Given the description of an element on the screen output the (x, y) to click on. 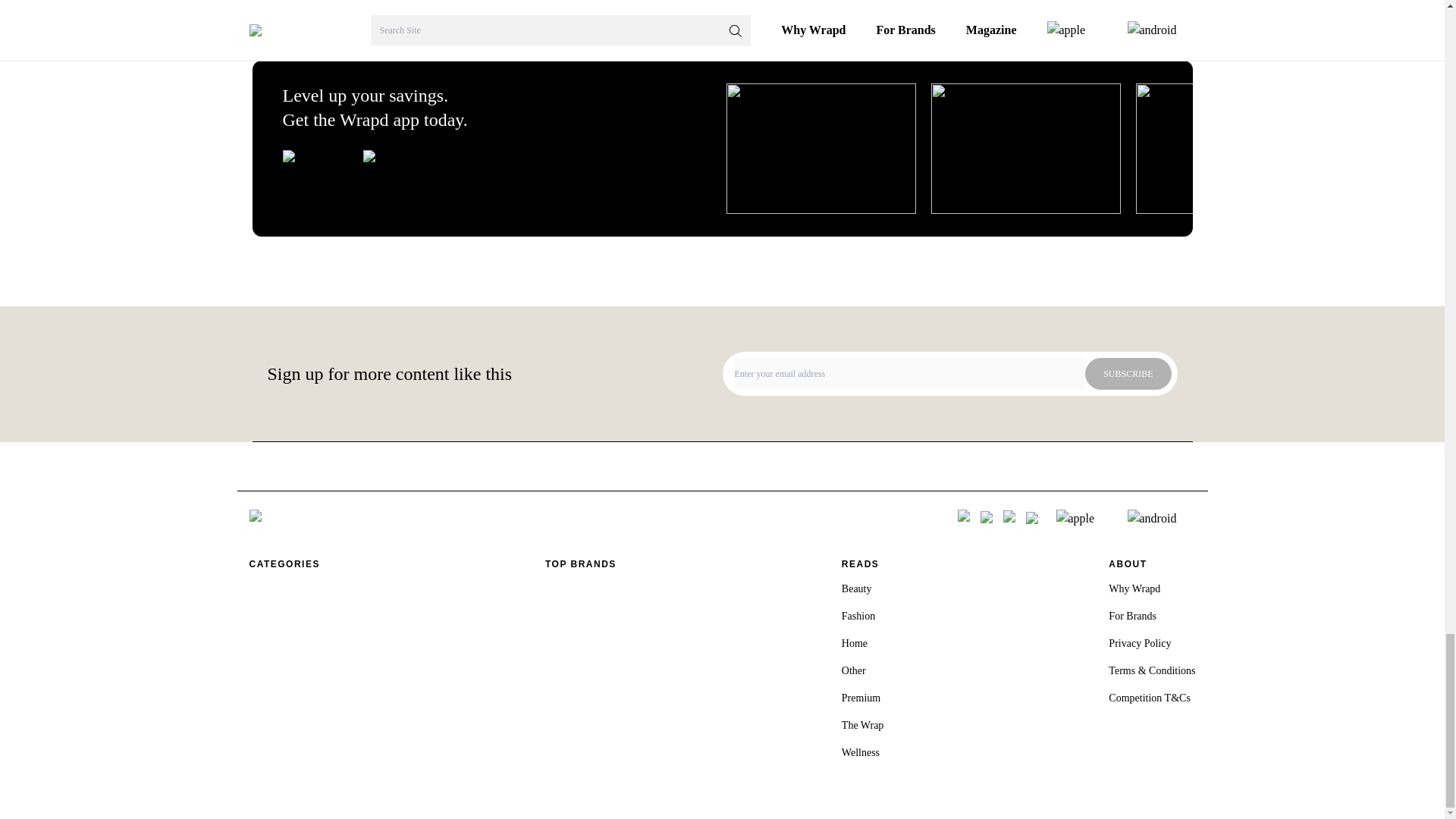
Wellness (860, 752)
Beauty (856, 588)
Privacy Policy (1139, 643)
Why Wrapd (1134, 588)
Fashion (858, 615)
Home (854, 643)
For Brands (1132, 615)
Premium (860, 697)
SUBSCRIBE (1127, 373)
The Wrap (862, 725)
